Given the description of an element on the screen output the (x, y) to click on. 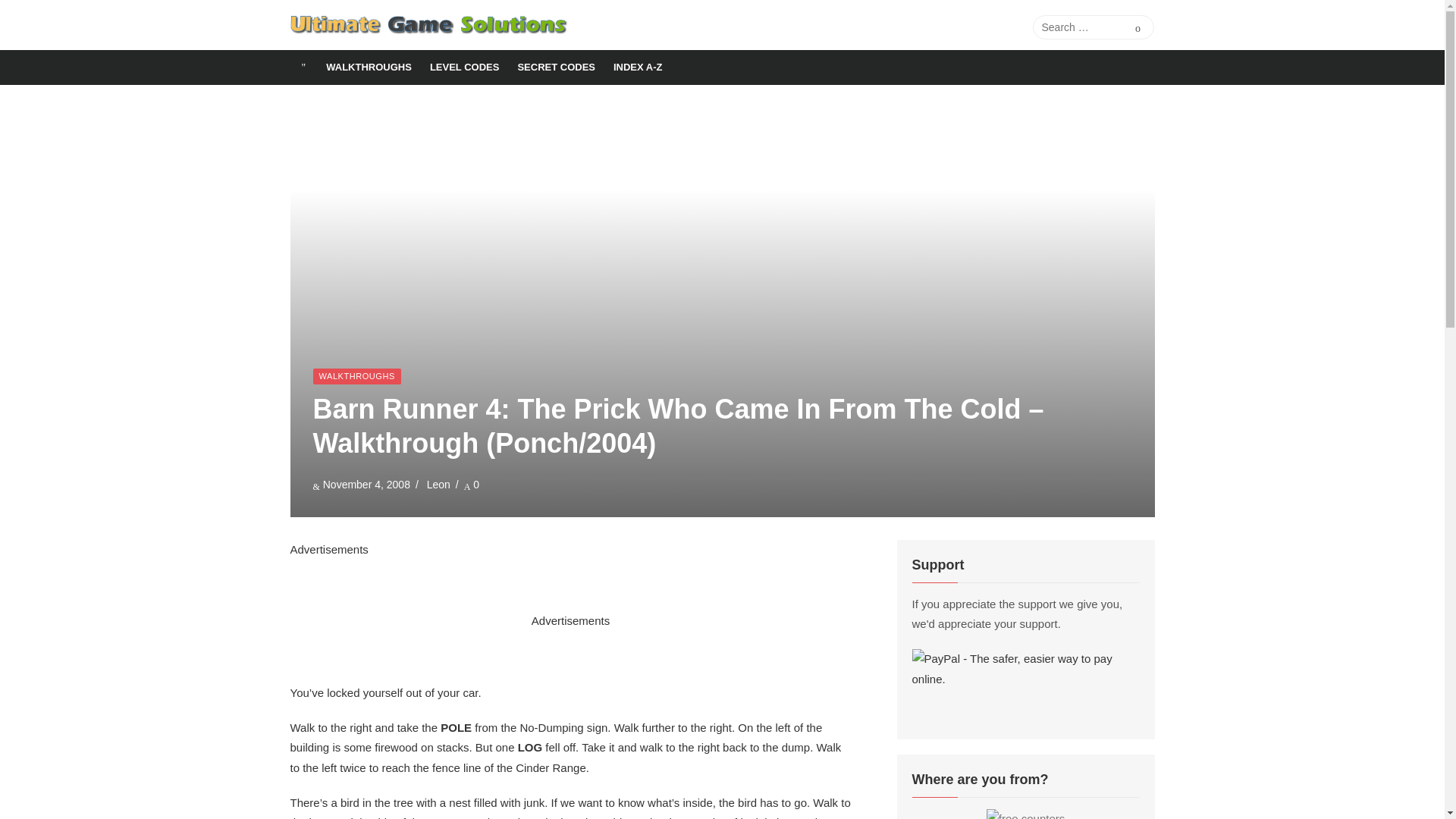
SECRET CODES (556, 67)
Search (1137, 27)
WALKTHROUGHS (368, 67)
0 (471, 484)
LEVEL CODES (464, 67)
WALKTHROUGHS (356, 376)
November 4, 2008 (366, 484)
INDEX A-Z (637, 67)
Leon (437, 484)
